Given the description of an element on the screen output the (x, y) to click on. 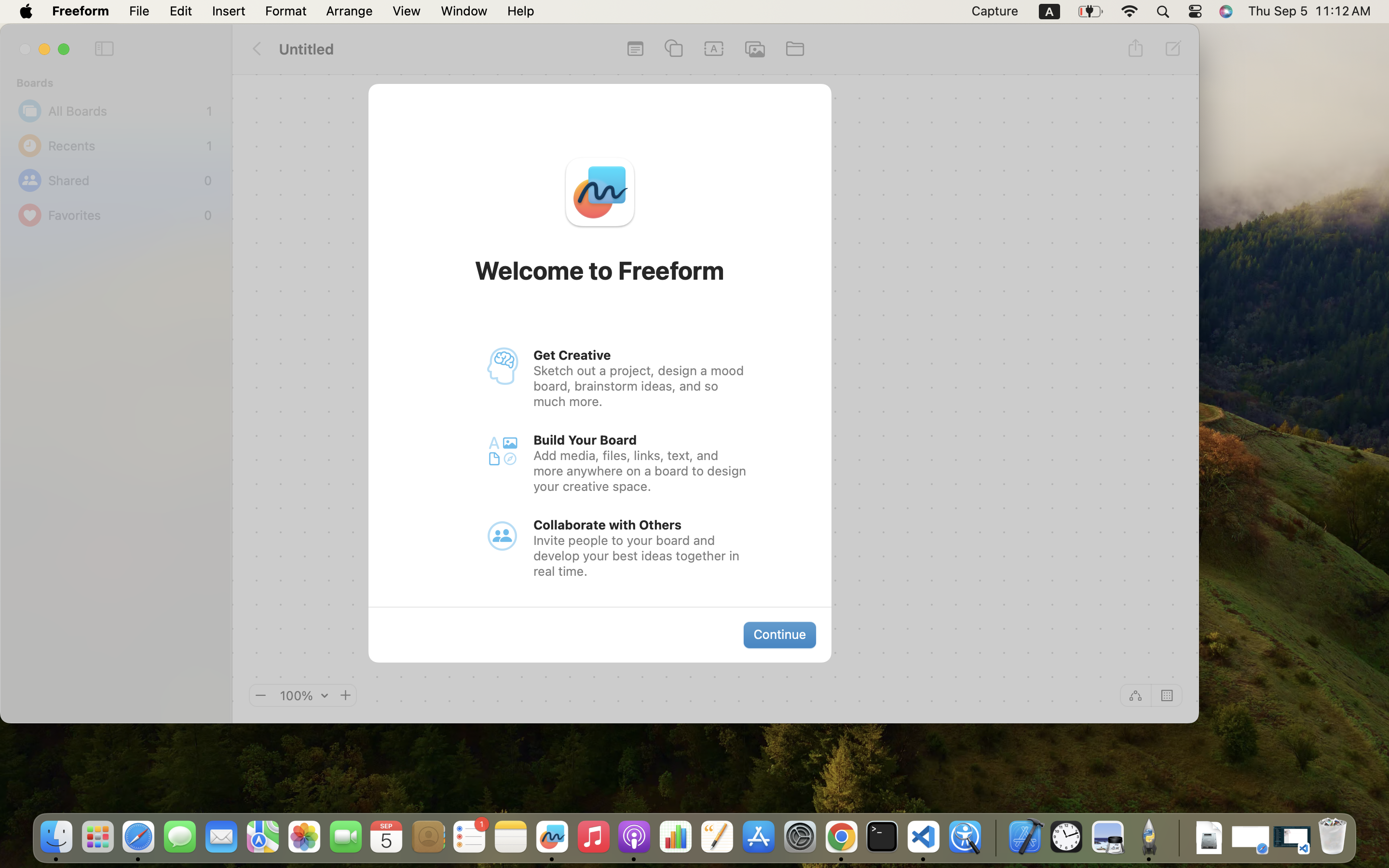
Sketch out a project, design a mood board, brainstorm ideas, and so much more. Element type: AXStaticText (641, 385)
Recents Element type: AXStaticText (124, 145)
Add media, files, links, text, and more anywhere on a board to design your creative space. Element type: AXStaticText (641, 470)
Favorites Element type: AXStaticText (123, 214)
